Given the description of an element on the screen output the (x, y) to click on. 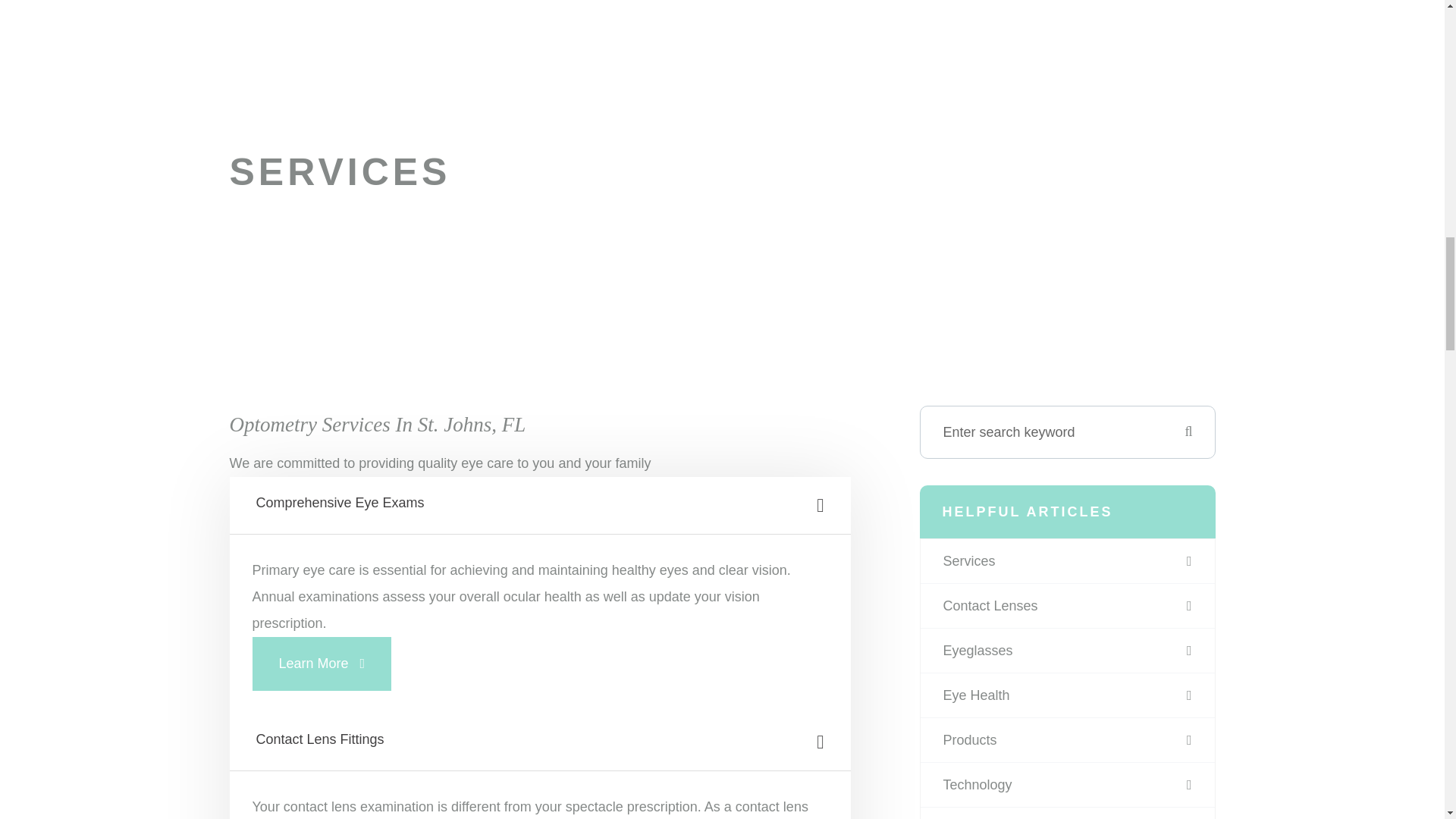
Contact Lenses (1067, 605)
Learn More (321, 664)
Services (1067, 560)
